Given the description of an element on the screen output the (x, y) to click on. 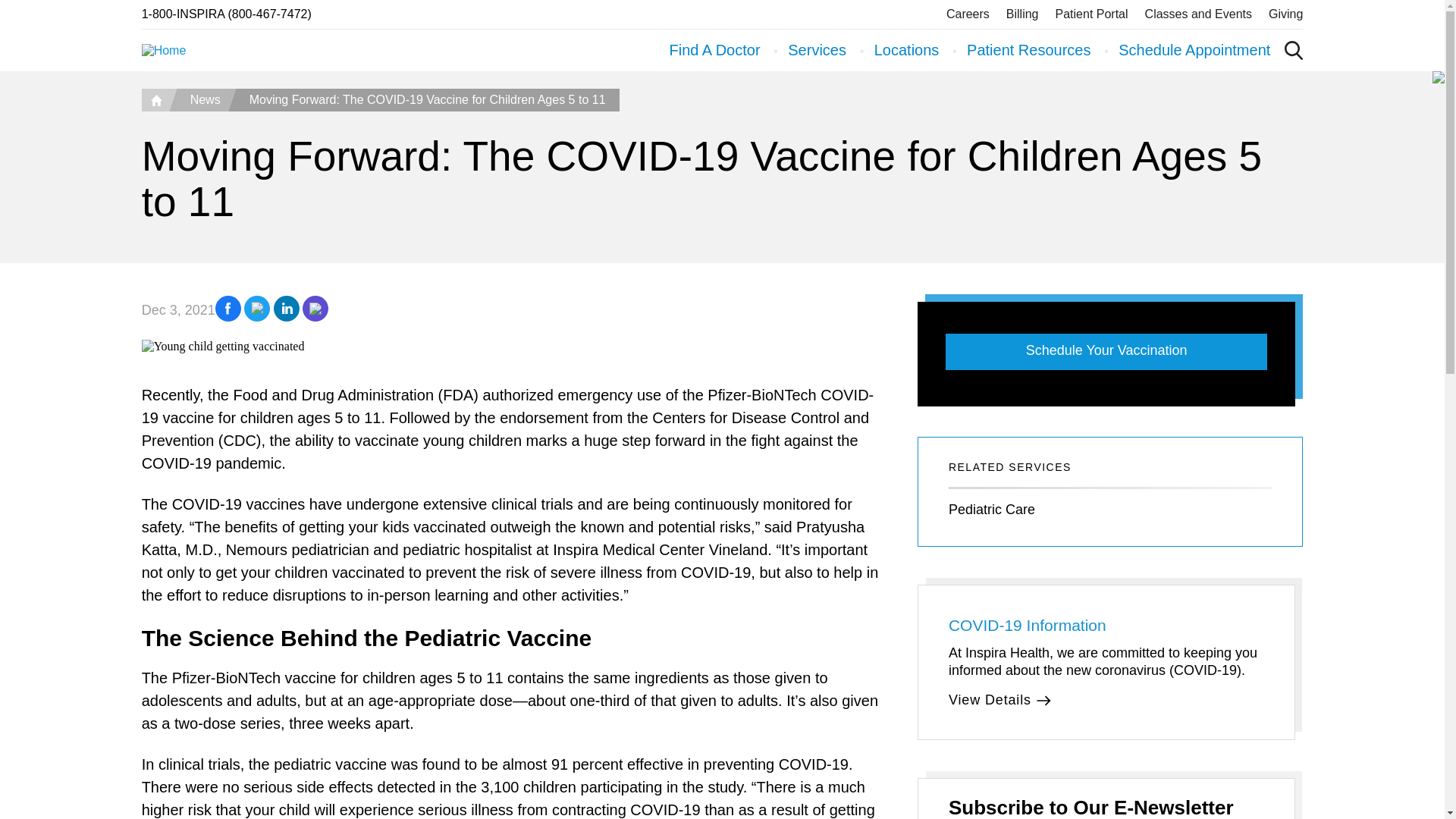
Open the Search Overlay (1293, 49)
Locations (907, 49)
Billing (1022, 13)
Giving (1285, 13)
Call Inspira (226, 14)
Patient Resources (1028, 49)
Go to News page (202, 99)
Find A Doctor (714, 49)
Classes and Events (1198, 13)
Patient Portal (1091, 13)
Schedule Appointment (1193, 49)
Use the Global Search (1293, 49)
Home (154, 99)
News (202, 99)
Go to Home page (154, 99)
